Given the description of an element on the screen output the (x, y) to click on. 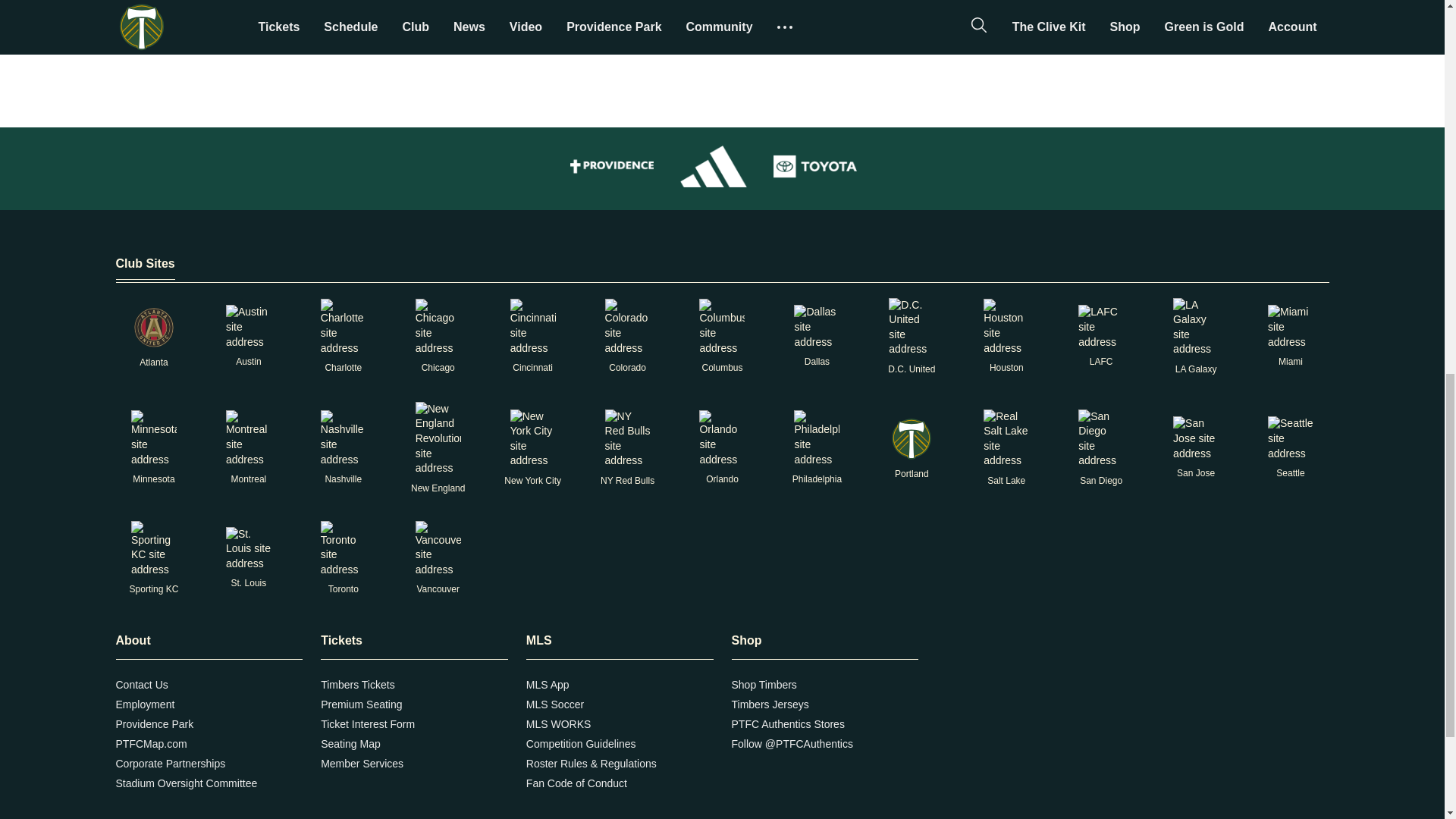
Link to Dallas (816, 326)
Link to Atlanta (153, 327)
Link to Miami (1290, 326)
Link to LAFC (1101, 326)
Link to Austin (247, 326)
